Given the description of an element on the screen output the (x, y) to click on. 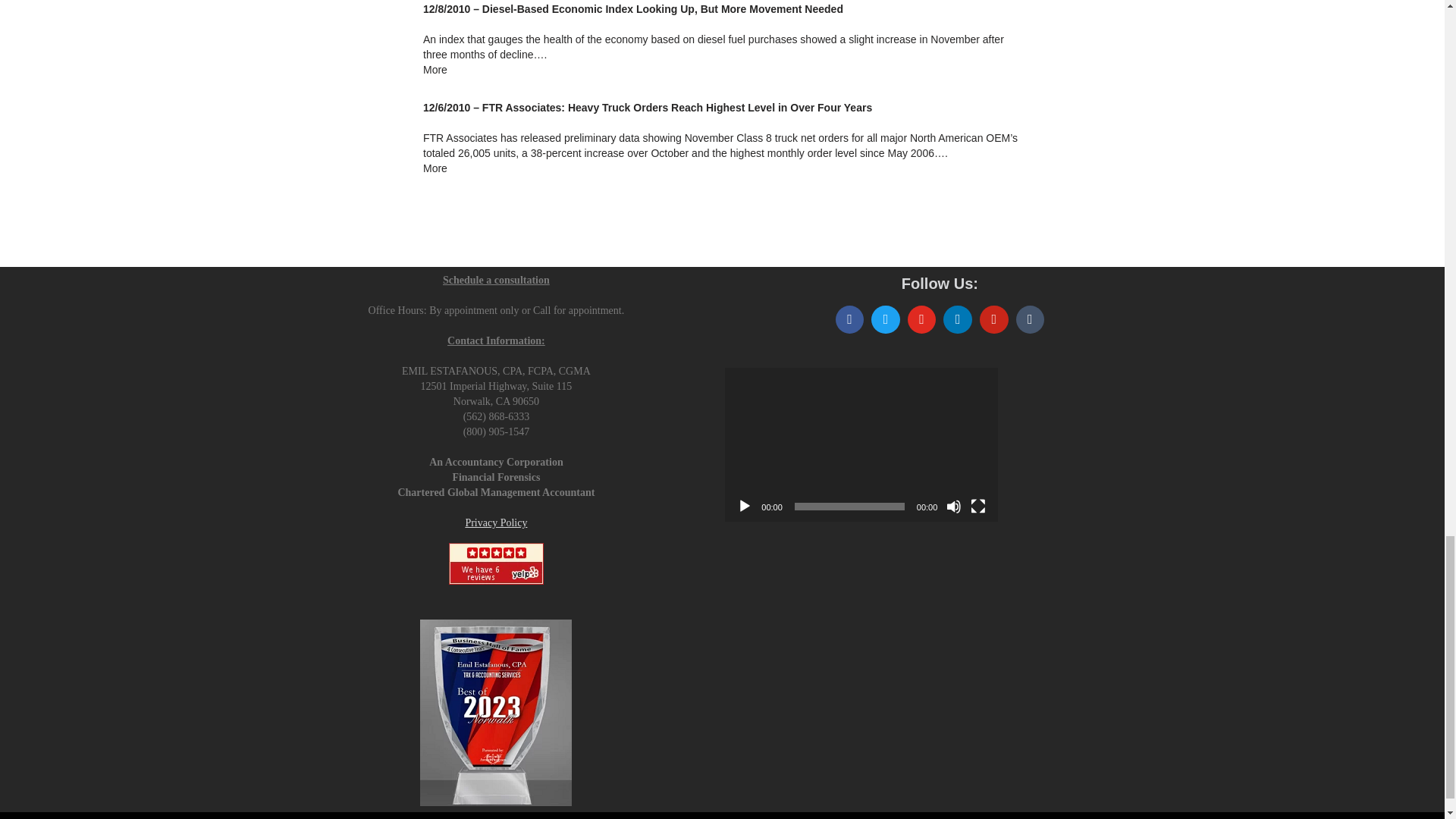
Mute (953, 506)
Twitter (885, 320)
Fullscreen (978, 506)
Default Label (993, 320)
Default Label (957, 320)
Play (744, 506)
Facebook (849, 320)
Default Label (1029, 320)
Instagram (922, 320)
